Given the description of an element on the screen output the (x, y) to click on. 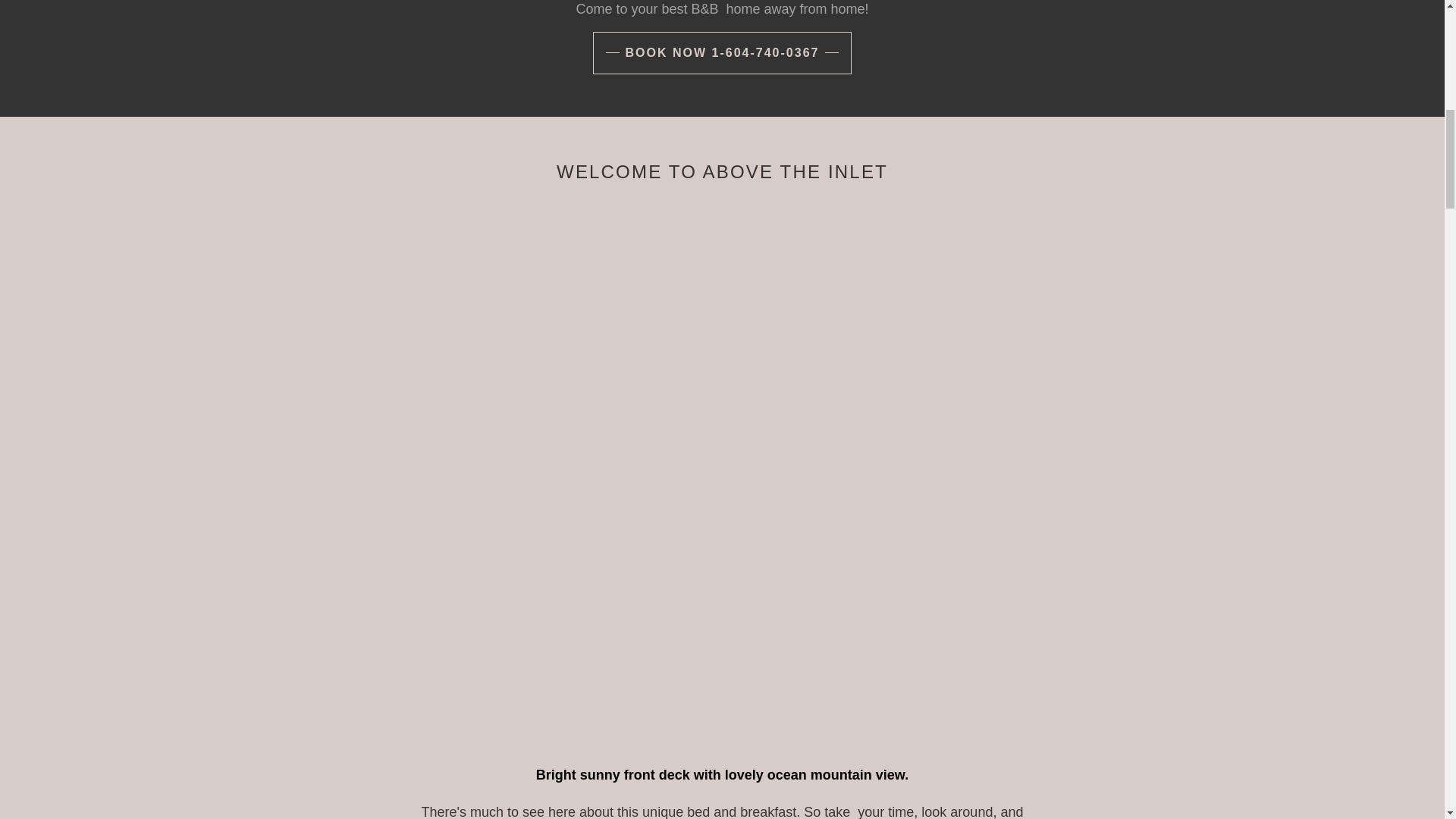
BOOK NOW 1-604-740-0367 (721, 52)
